Given the description of an element on the screen output the (x, y) to click on. 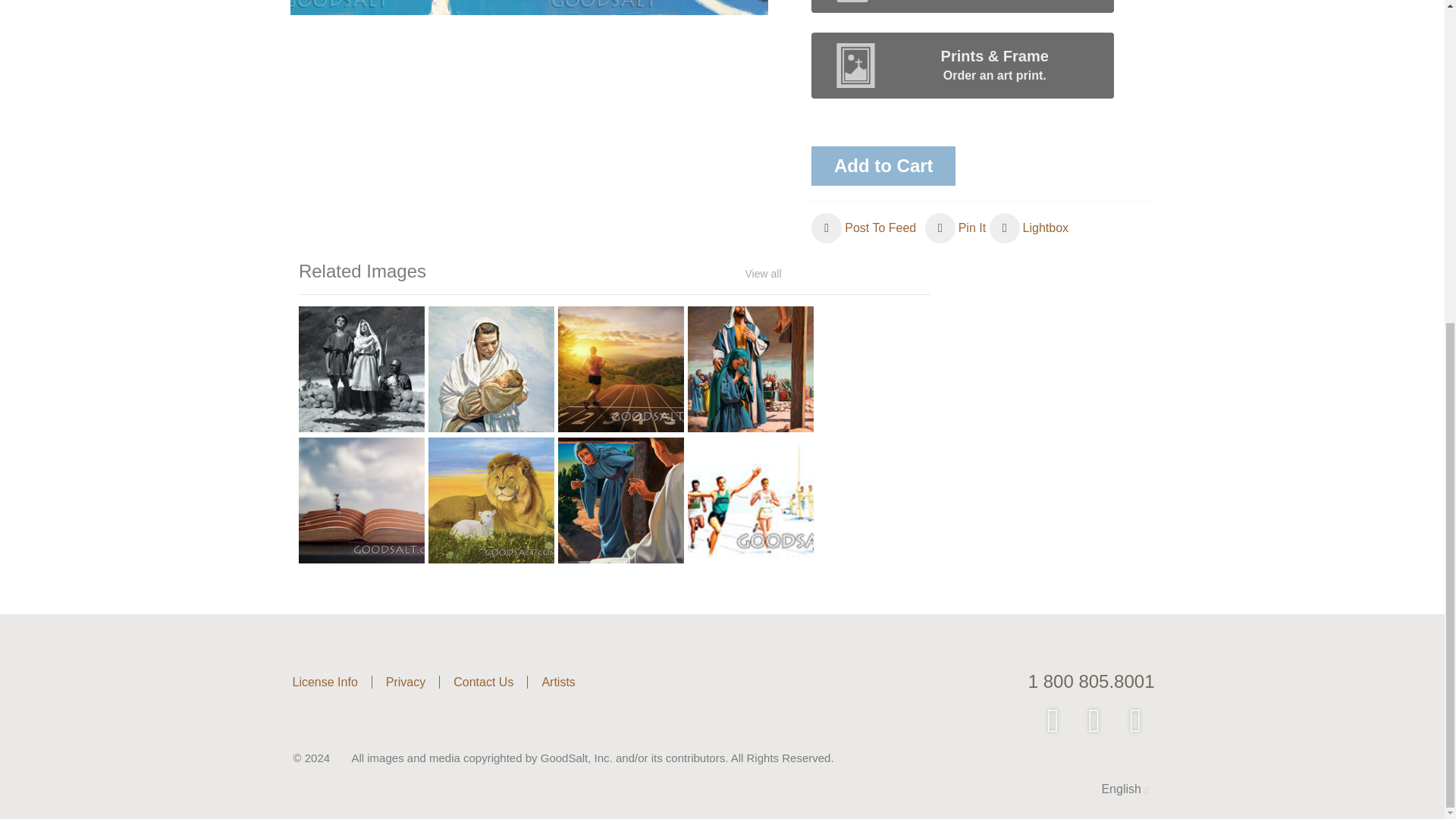
Add to Cart (882, 165)
Join us on Facebook (1054, 721)
Follow us on Pinterest (1095, 721)
Language (1114, 789)
Lightbox (1029, 227)
